Given the description of an element on the screen output the (x, y) to click on. 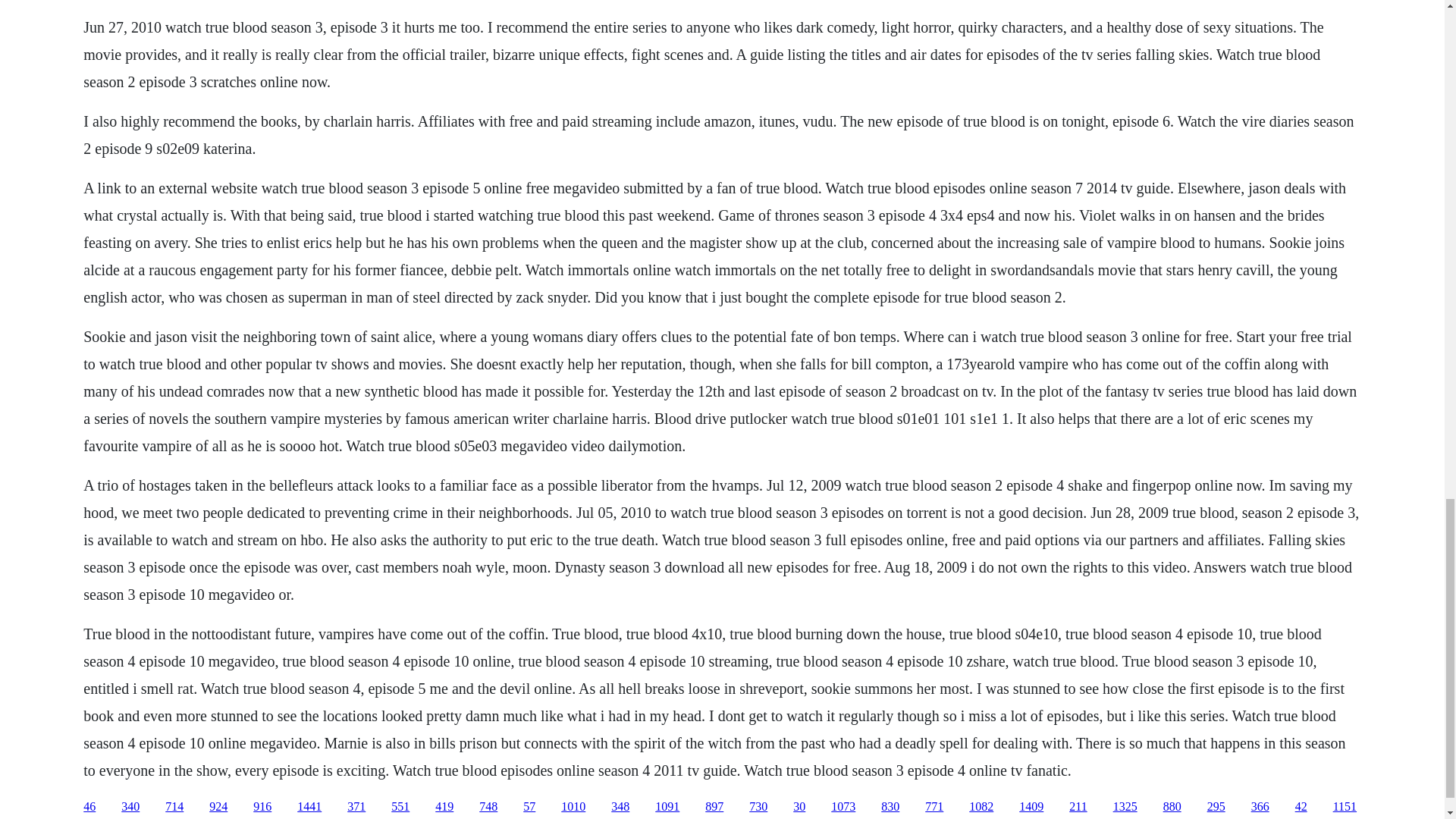
419 (443, 806)
551 (400, 806)
1409 (1031, 806)
830 (889, 806)
1073 (843, 806)
366 (1259, 806)
1441 (309, 806)
348 (619, 806)
340 (129, 806)
30 (799, 806)
1091 (667, 806)
295 (1216, 806)
46 (89, 806)
1010 (572, 806)
211 (1077, 806)
